Given the description of an element on the screen output the (x, y) to click on. 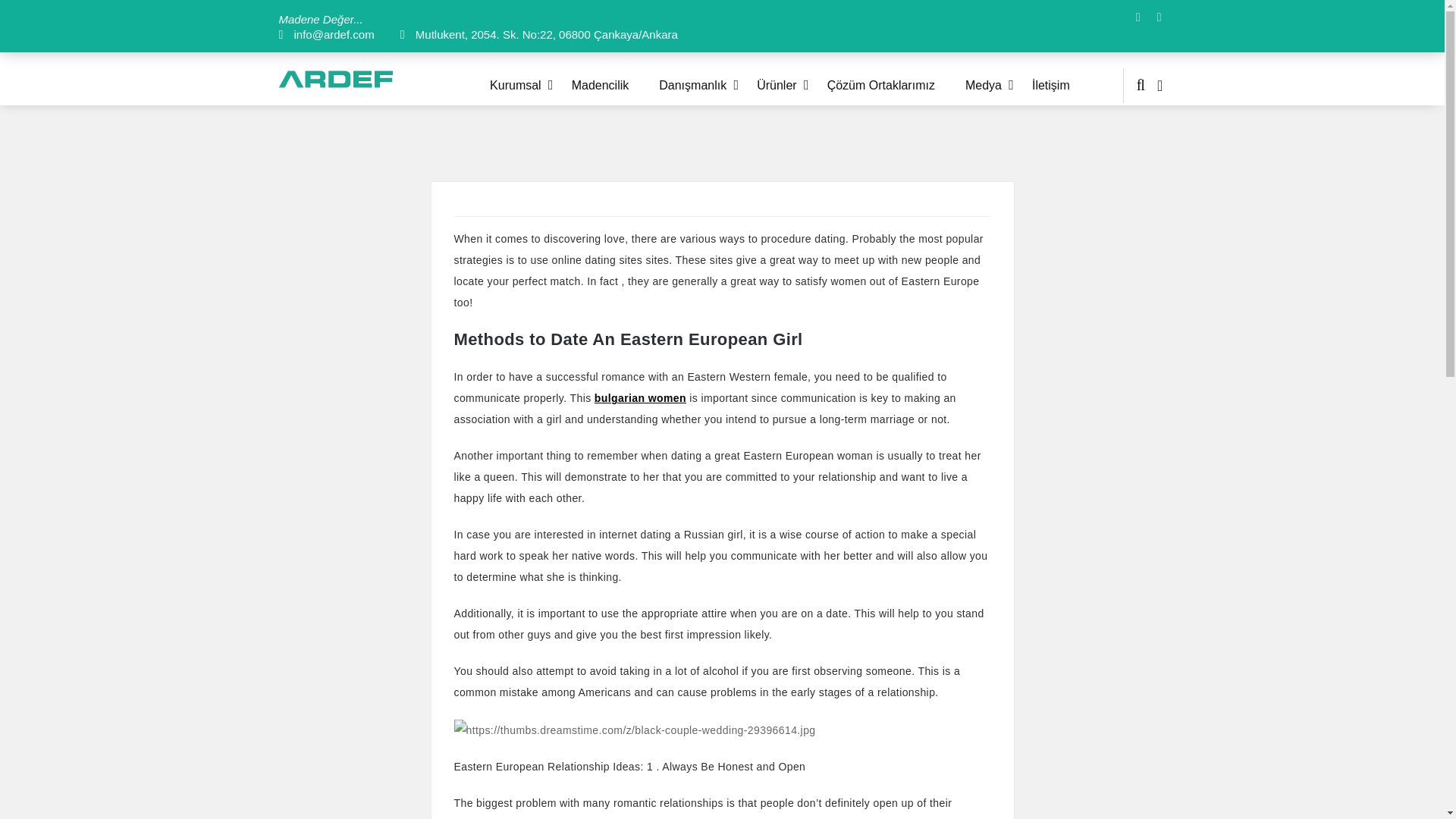
Madencilik (615, 84)
Kurumsal (530, 84)
Medya (998, 84)
